Given the description of an element on the screen output the (x, y) to click on. 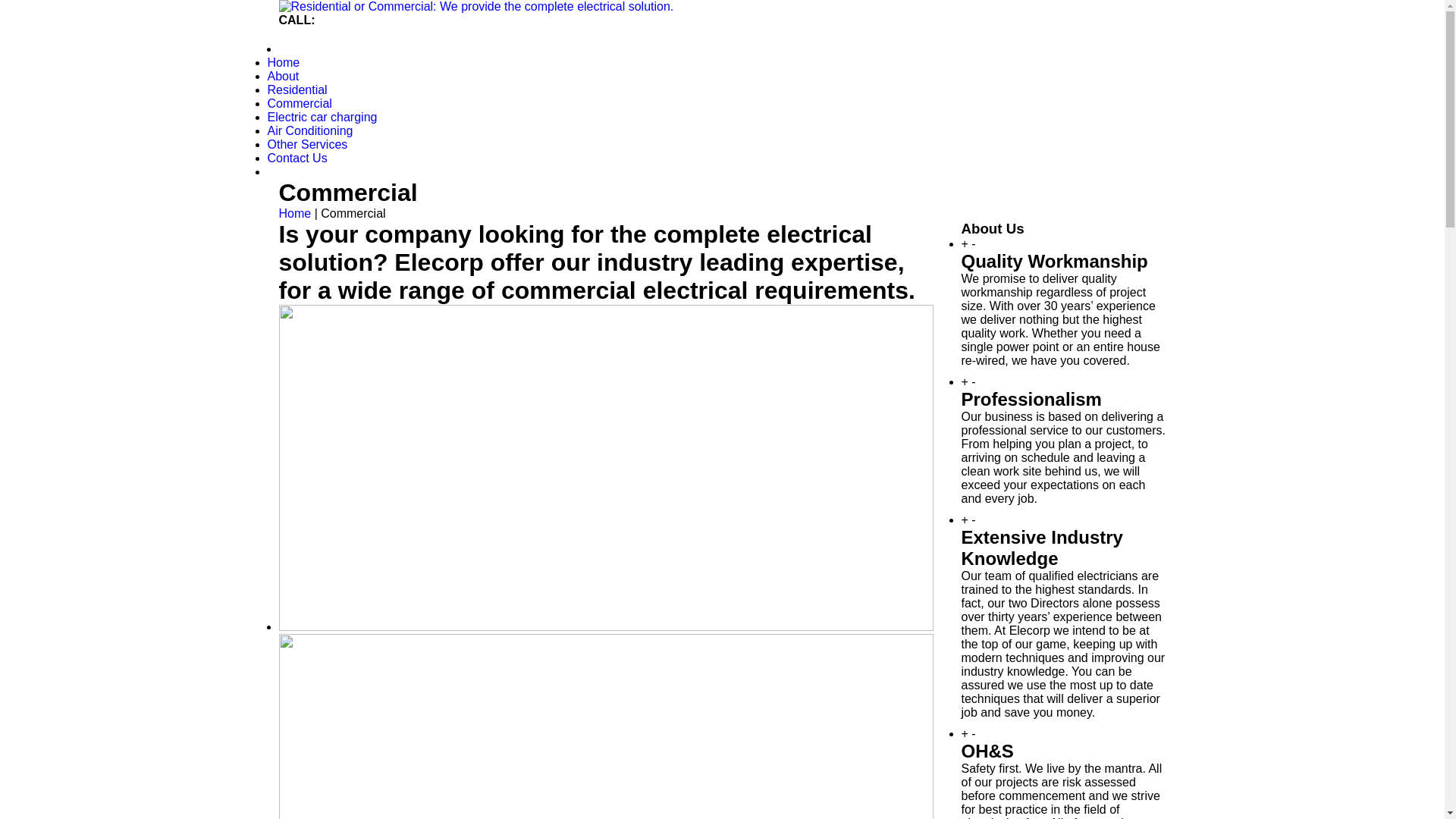
Air Conditioning Element type: text (309, 130)
Residential Element type: text (296, 89)
About Element type: text (282, 75)
Home Element type: text (295, 213)
Electric car charging Element type: text (321, 116)
Contact Us Element type: text (296, 157)
Commercial Element type: text (298, 103)
Home Element type: text (282, 62)
Other Services Element type: text (306, 144)
